Given the description of an element on the screen output the (x, y) to click on. 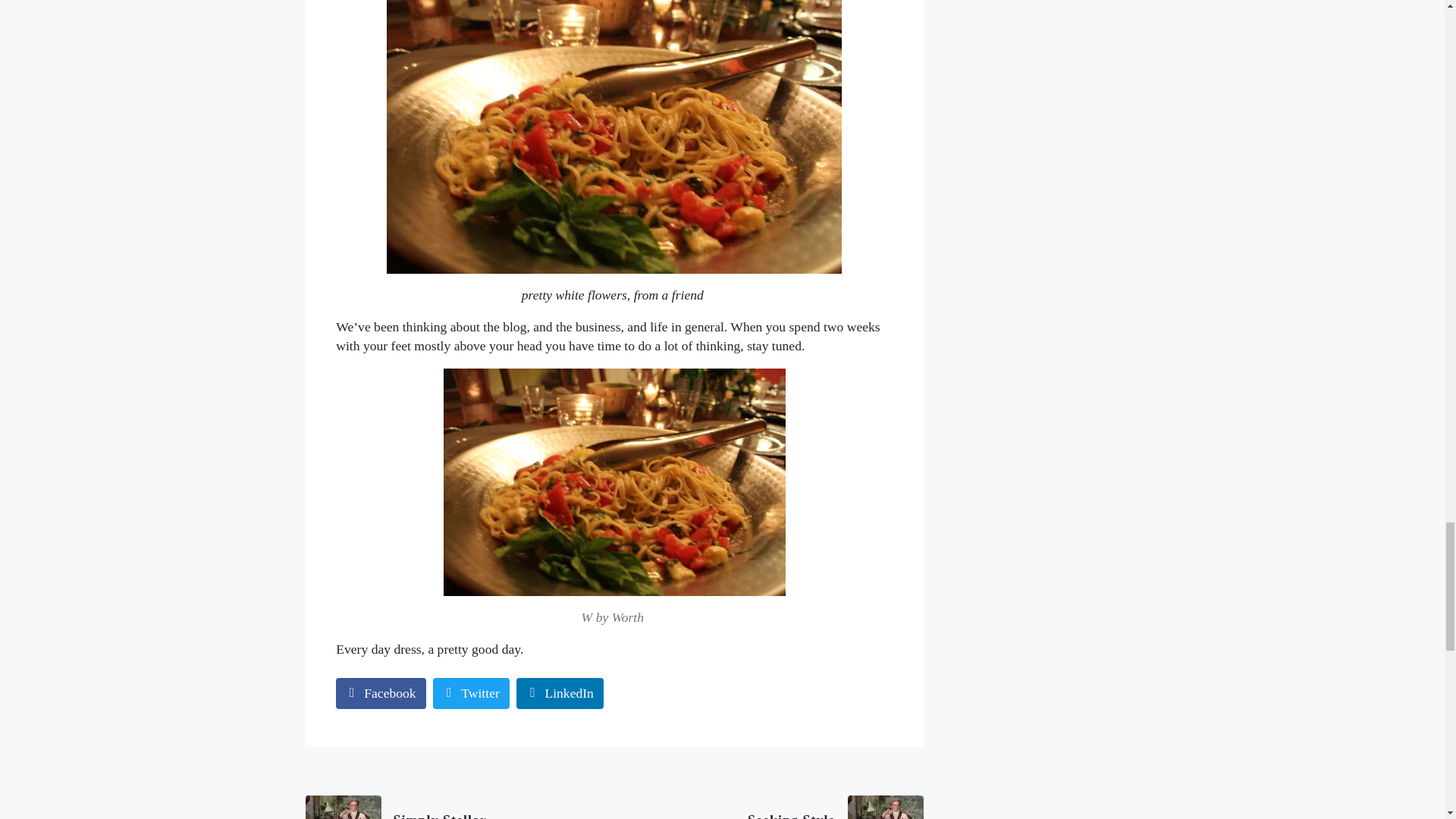
simply stellar (454, 807)
Facebook (380, 693)
Twitter (774, 807)
LinkedIn (470, 693)
seeking style (560, 693)
W by Worth  (454, 807)
